Given the description of an element on the screen output the (x, y) to click on. 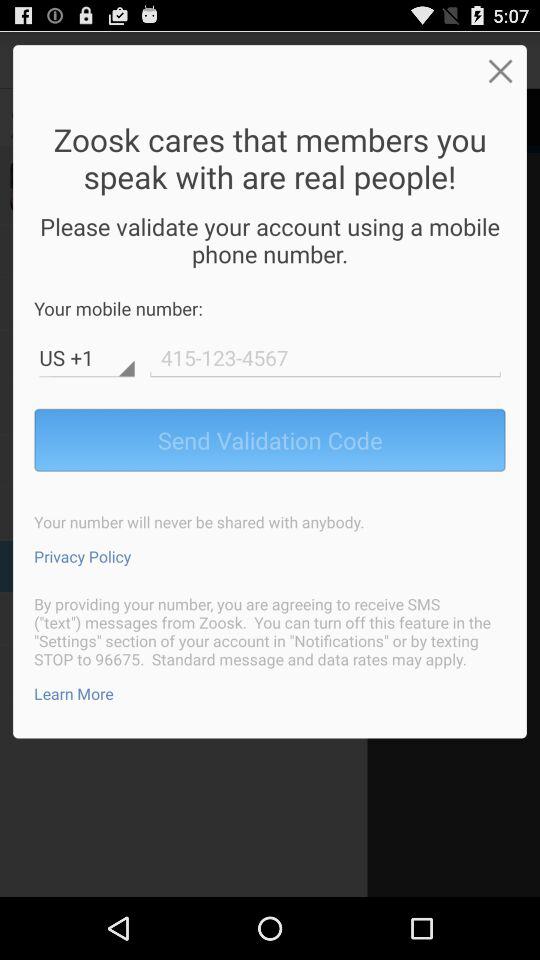
close (500, 70)
